Given the description of an element on the screen output the (x, y) to click on. 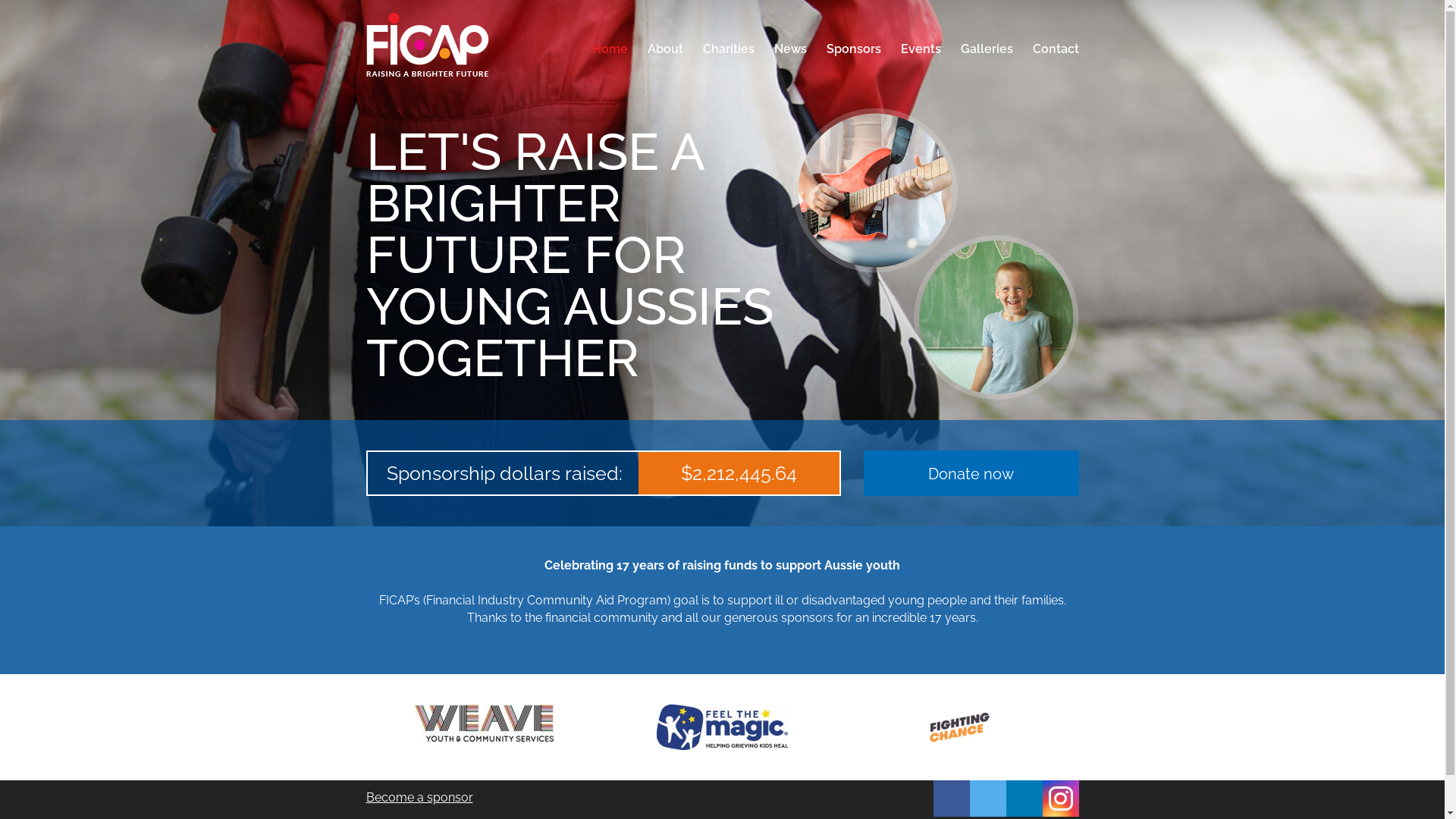
Sponsors Element type: text (852, 48)
Donate now Element type: text (970, 473)
About Element type: text (664, 48)
Home Element type: text (609, 48)
Events Element type: text (920, 48)
Charities Element type: text (728, 48)
Galleries Element type: text (986, 48)
Contact Element type: text (1050, 48)
News Element type: text (790, 48)
Become a sponsor Element type: text (602, 797)
